Given the description of an element on the screen output the (x, y) to click on. 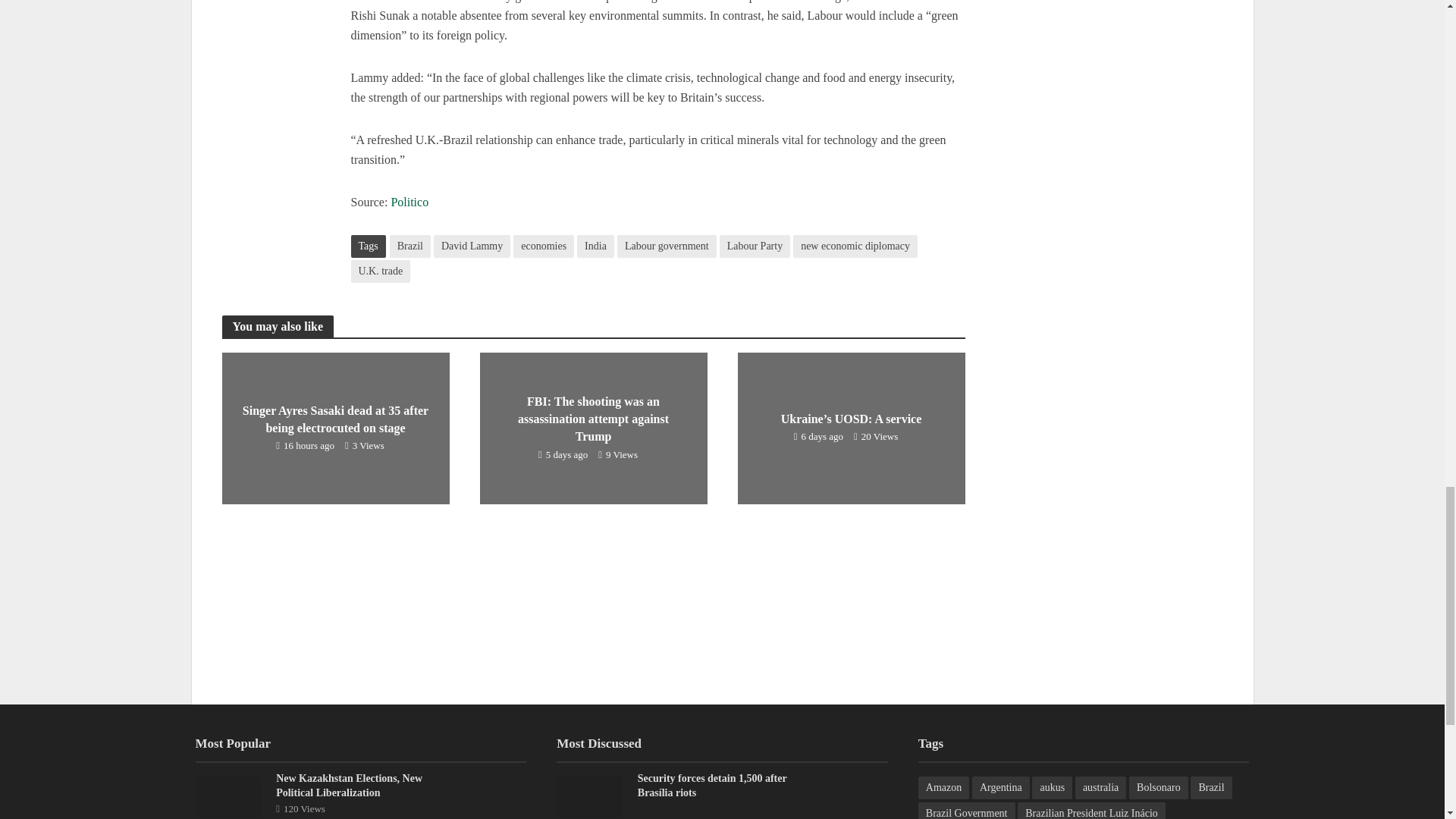
New Kazakhstan Elections, New Political Liberalization (228, 796)
FBI: The shooting was an assassination attempt against Trump (592, 427)
